Given the description of an element on the screen output the (x, y) to click on. 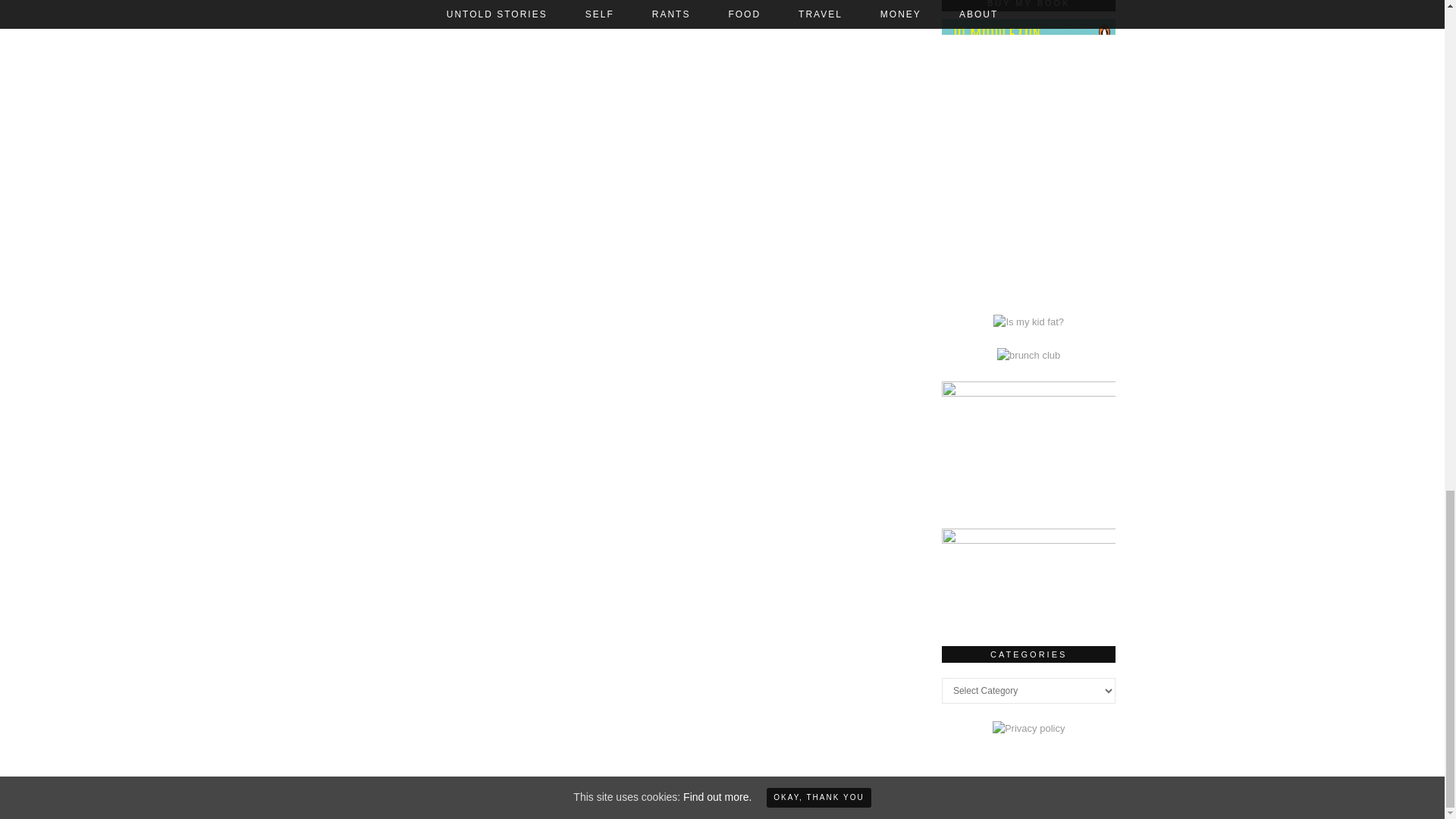
Buy my book (1029, 288)
